Given the description of an element on the screen output the (x, y) to click on. 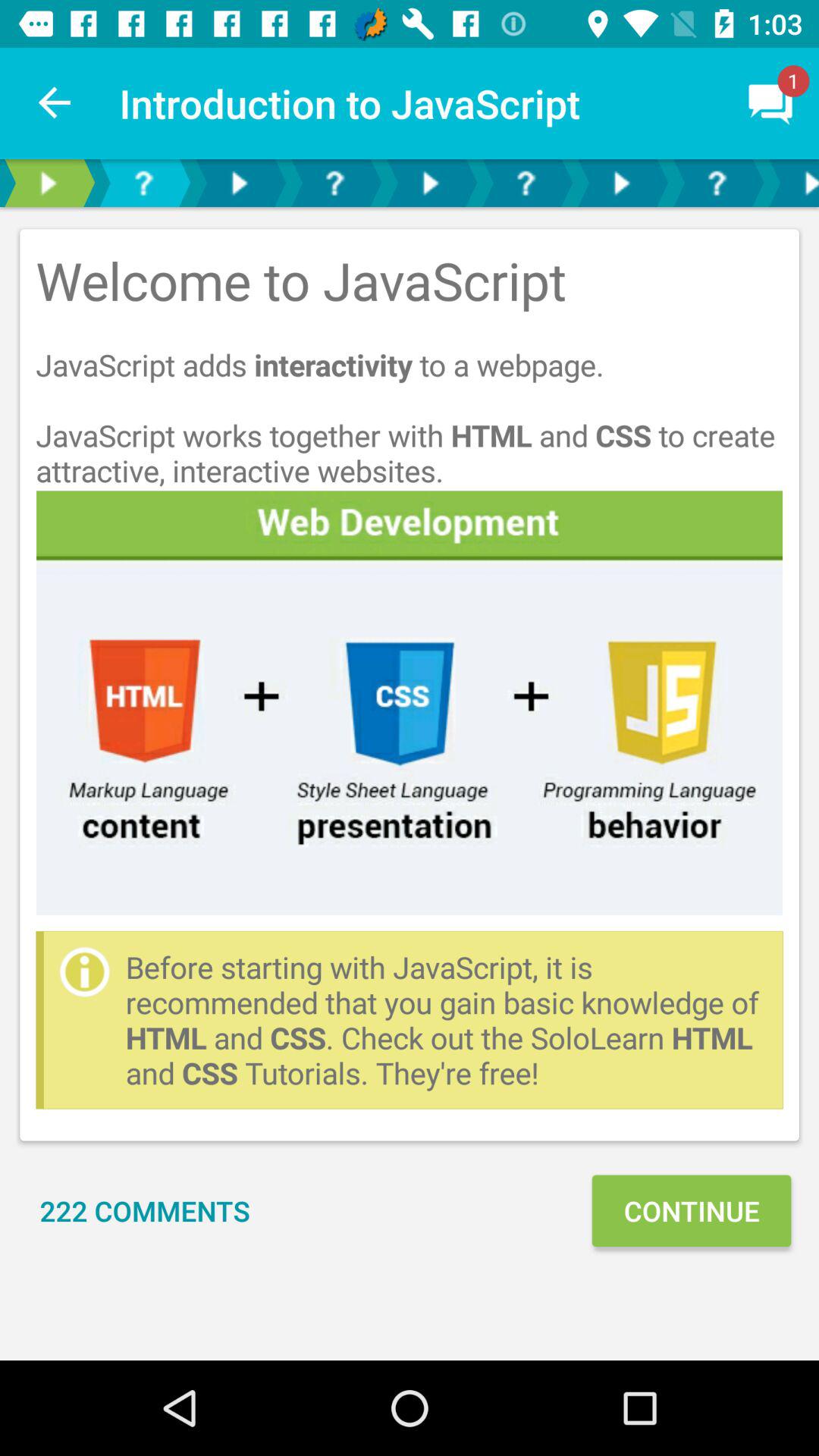
choose item above continue icon (446, 1019)
